Given the description of an element on the screen output the (x, y) to click on. 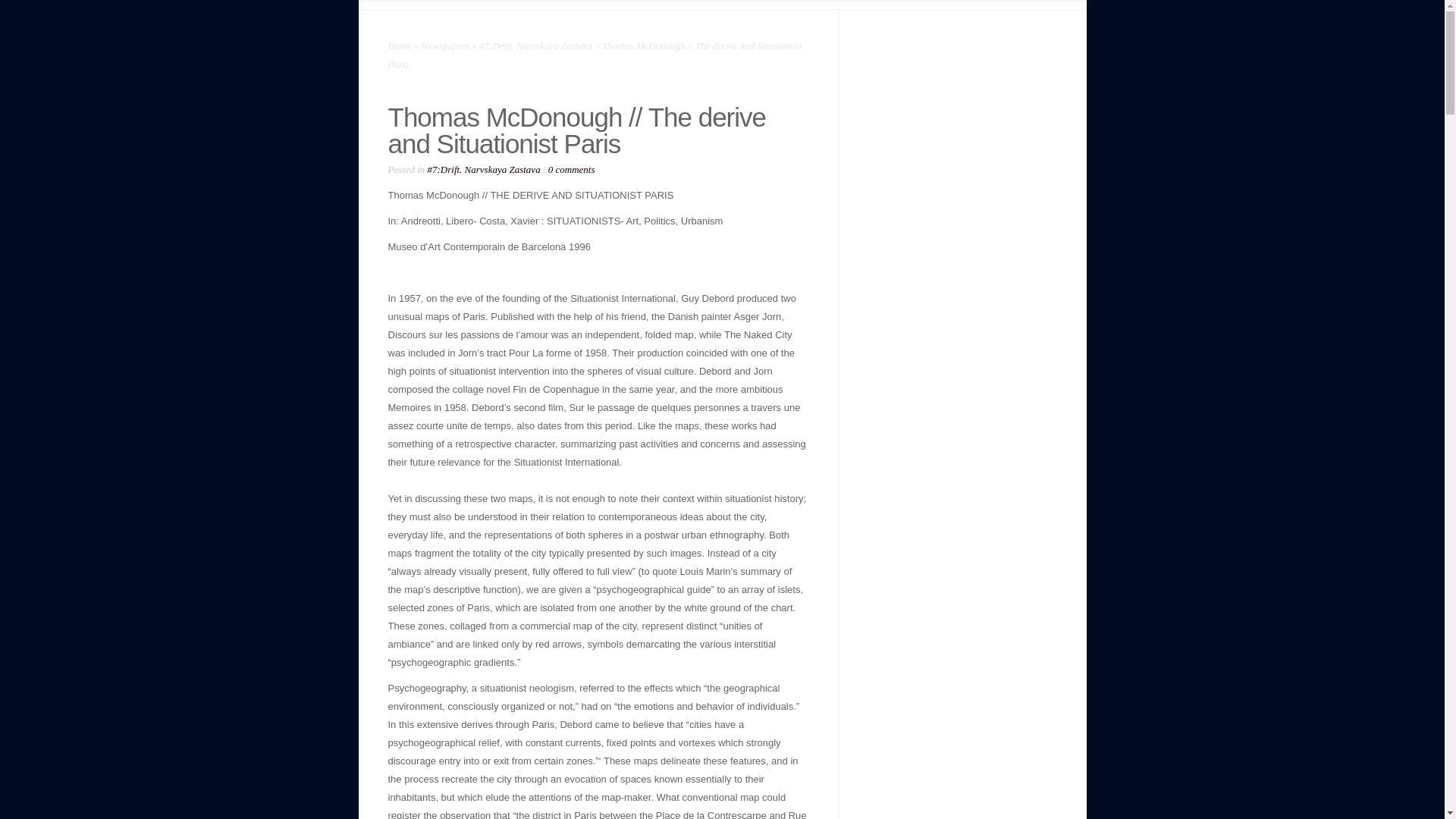
Newspapers (446, 45)
Home (400, 45)
0 comments (571, 169)
